Given the description of an element on the screen output the (x, y) to click on. 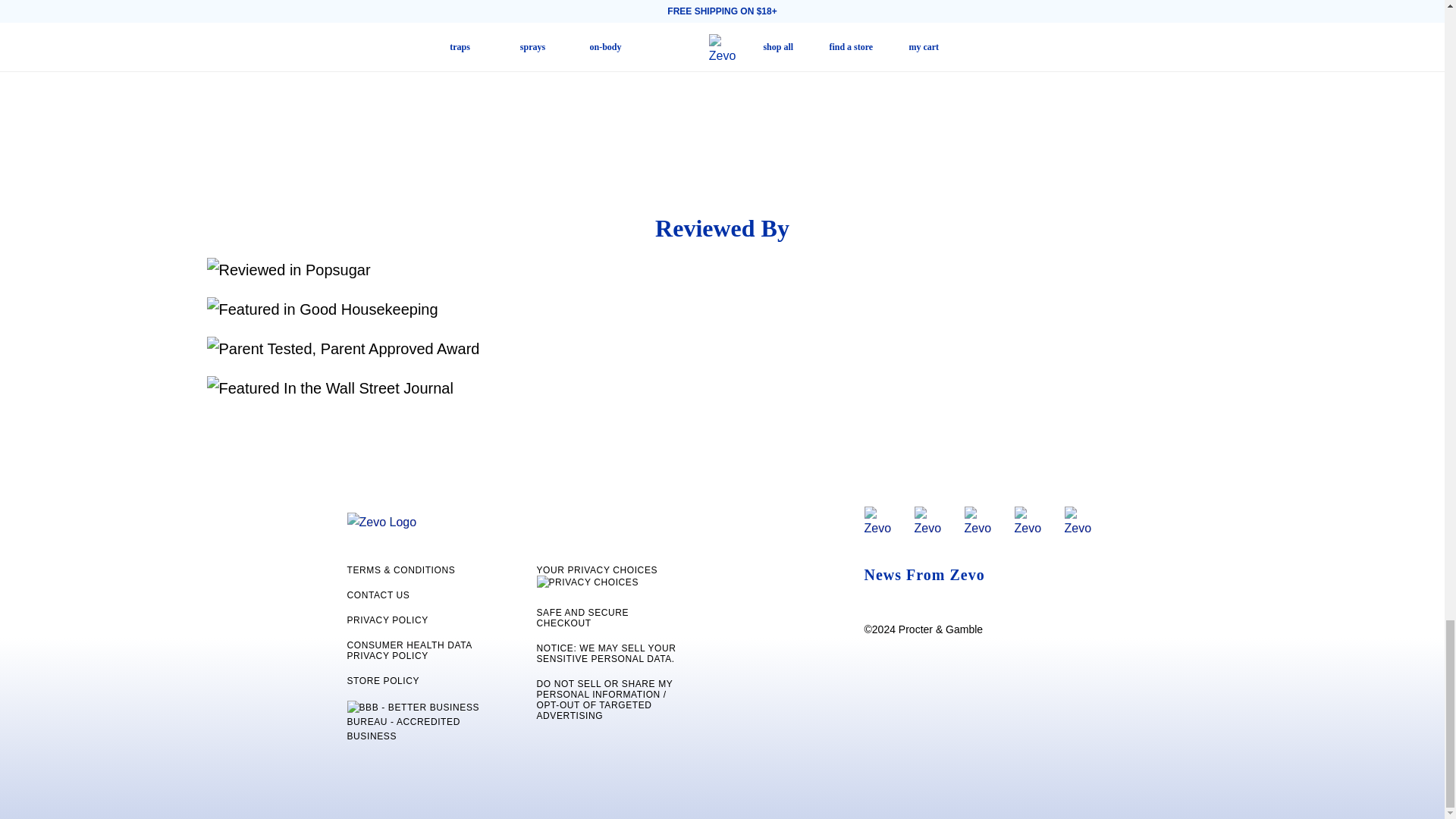
CONSUMER HEALTH DATA PRIVACY POLICY (421, 649)
YOUR PRIVACY CHOICES (610, 578)
CONTACT US (421, 594)
PRIVACY POLICY (421, 620)
STORE POLICY (421, 680)
